Given the description of an element on the screen output the (x, y) to click on. 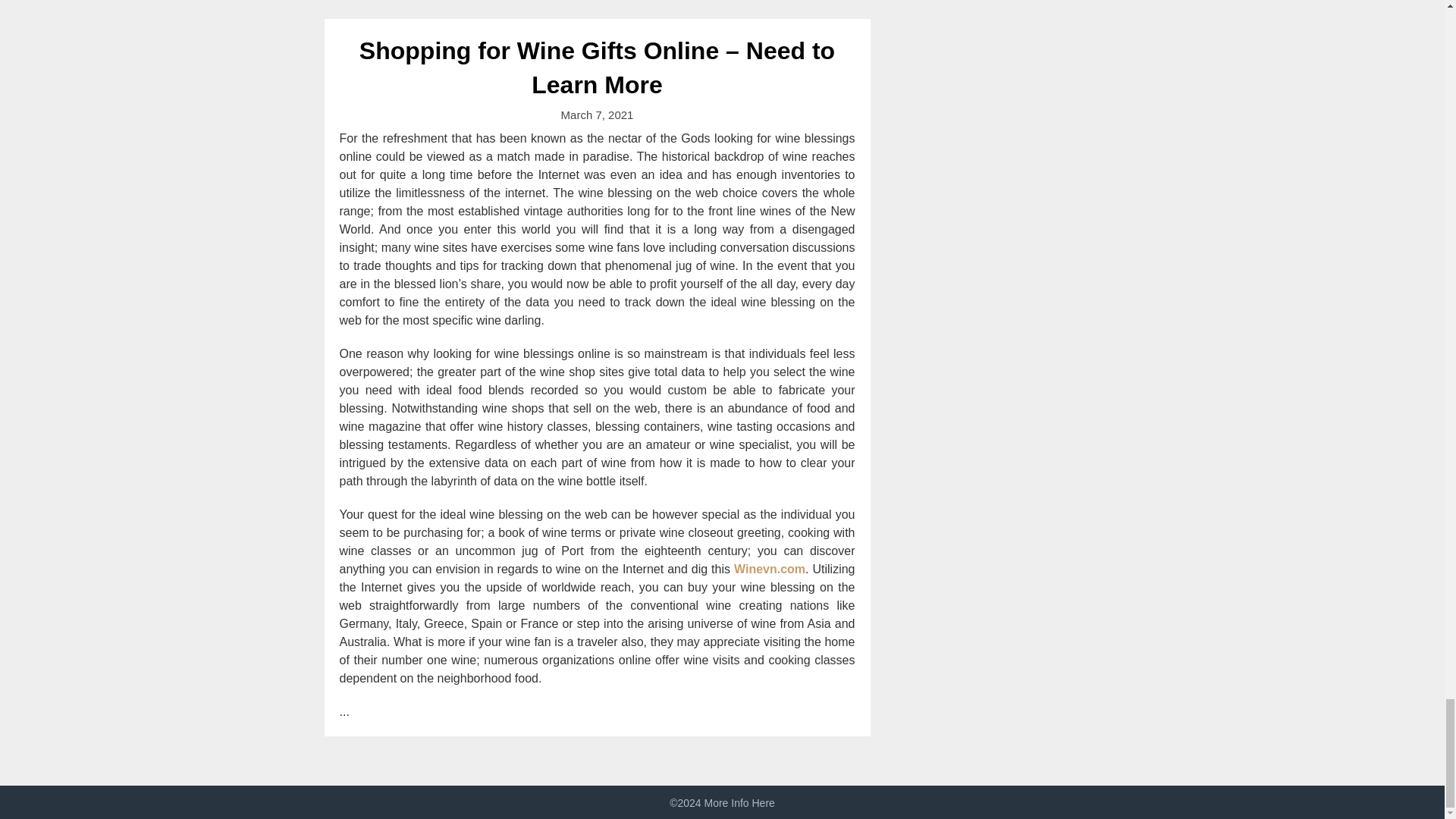
Winevn.com (769, 568)
